Given the description of an element on the screen output the (x, y) to click on. 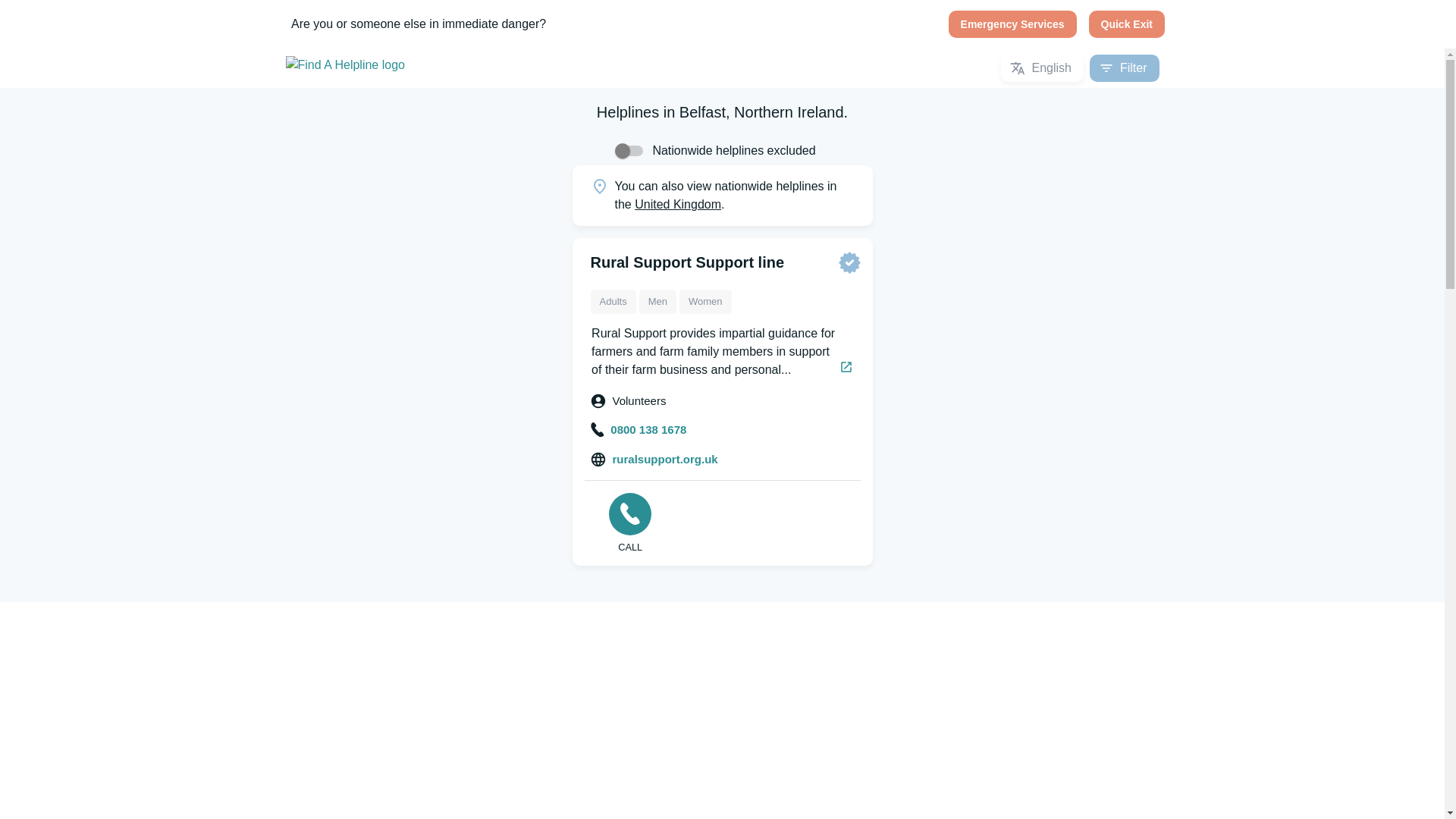
Filter (1123, 67)
Volunteers (628, 401)
Rural Support Support line (686, 262)
ruralsupport.org.uk (654, 459)
English (1042, 67)
0800 138 1678 (638, 430)
Quick Exit (1126, 24)
Emergency Services (1013, 24)
United Kingdom (677, 204)
